Given the description of an element on the screen output the (x, y) to click on. 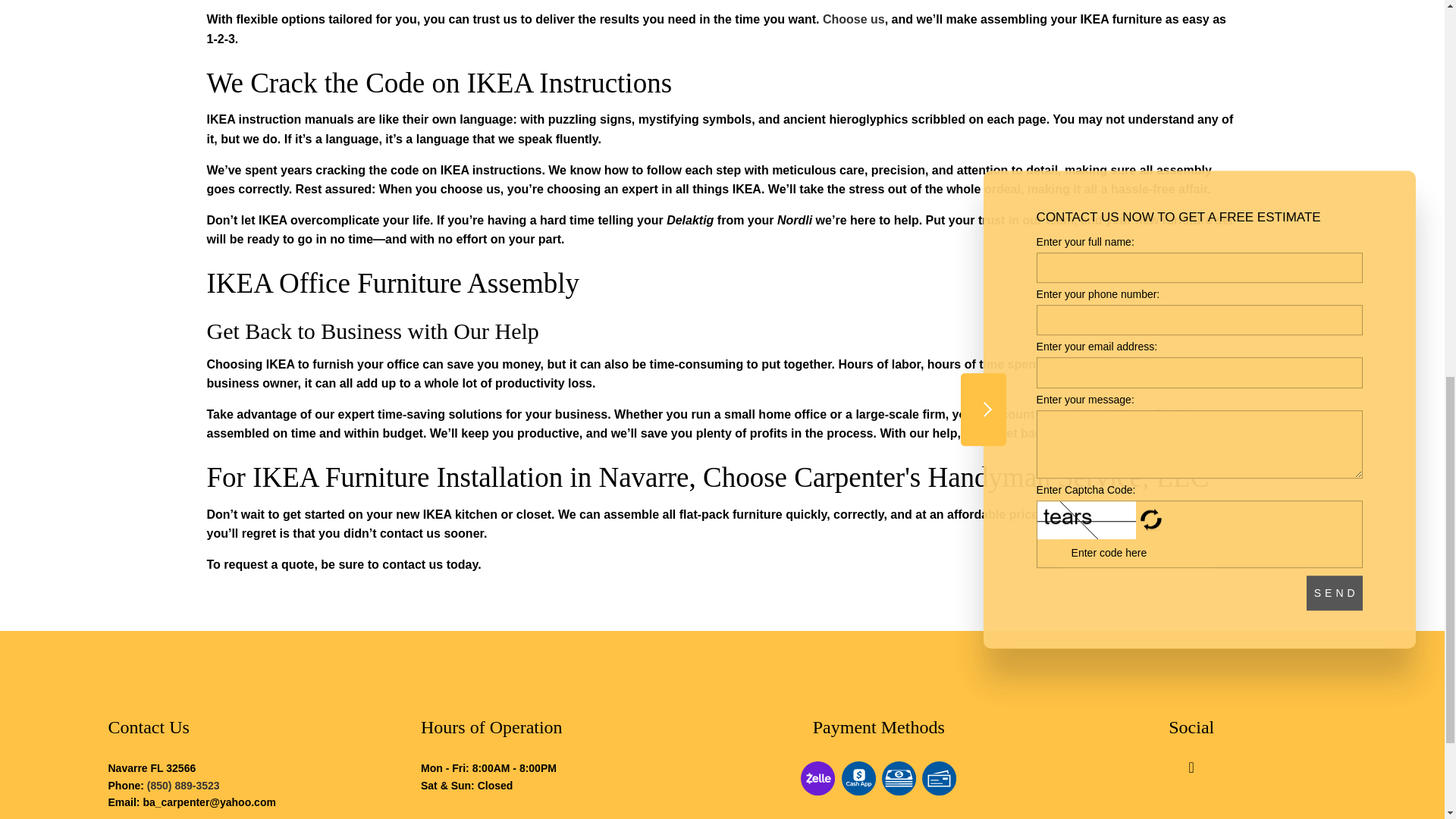
Google Maps (1191, 768)
Learn more about Handyman Services (853, 19)
